Given the description of an element on the screen output the (x, y) to click on. 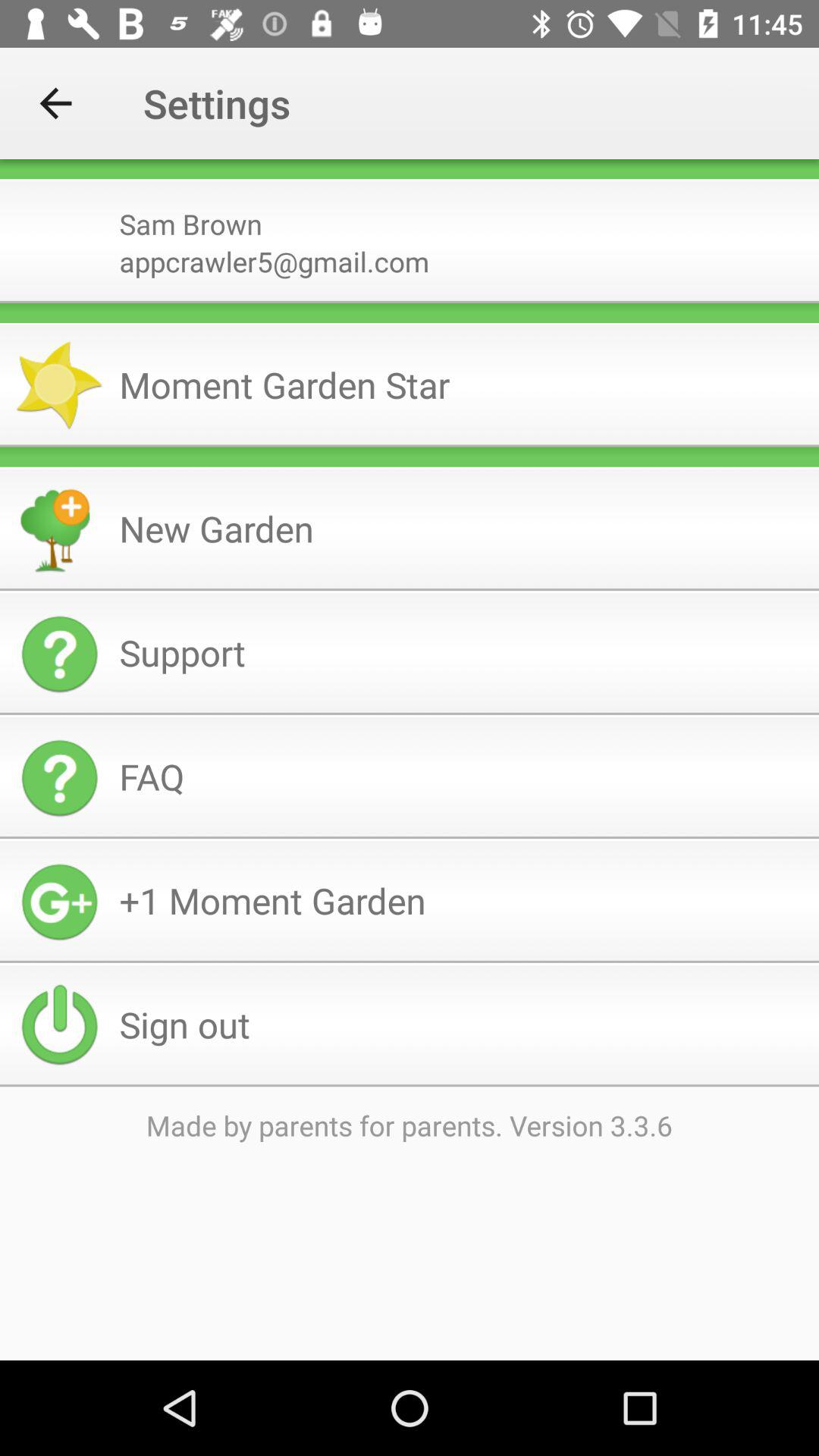
press new garden icon (463, 528)
